Given the description of an element on the screen output the (x, y) to click on. 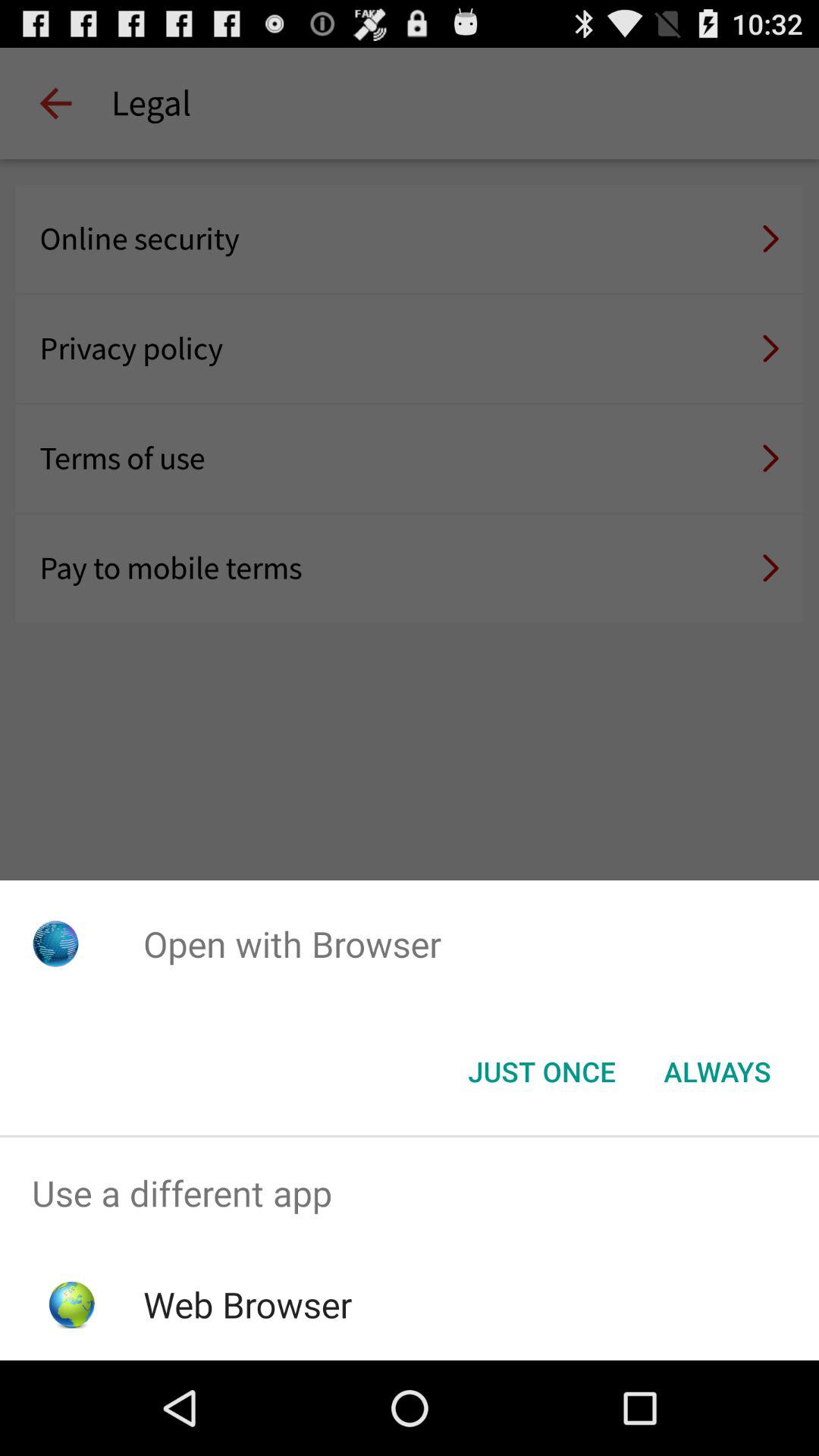
select item below the use a different app (247, 1304)
